Given the description of an element on the screen output the (x, y) to click on. 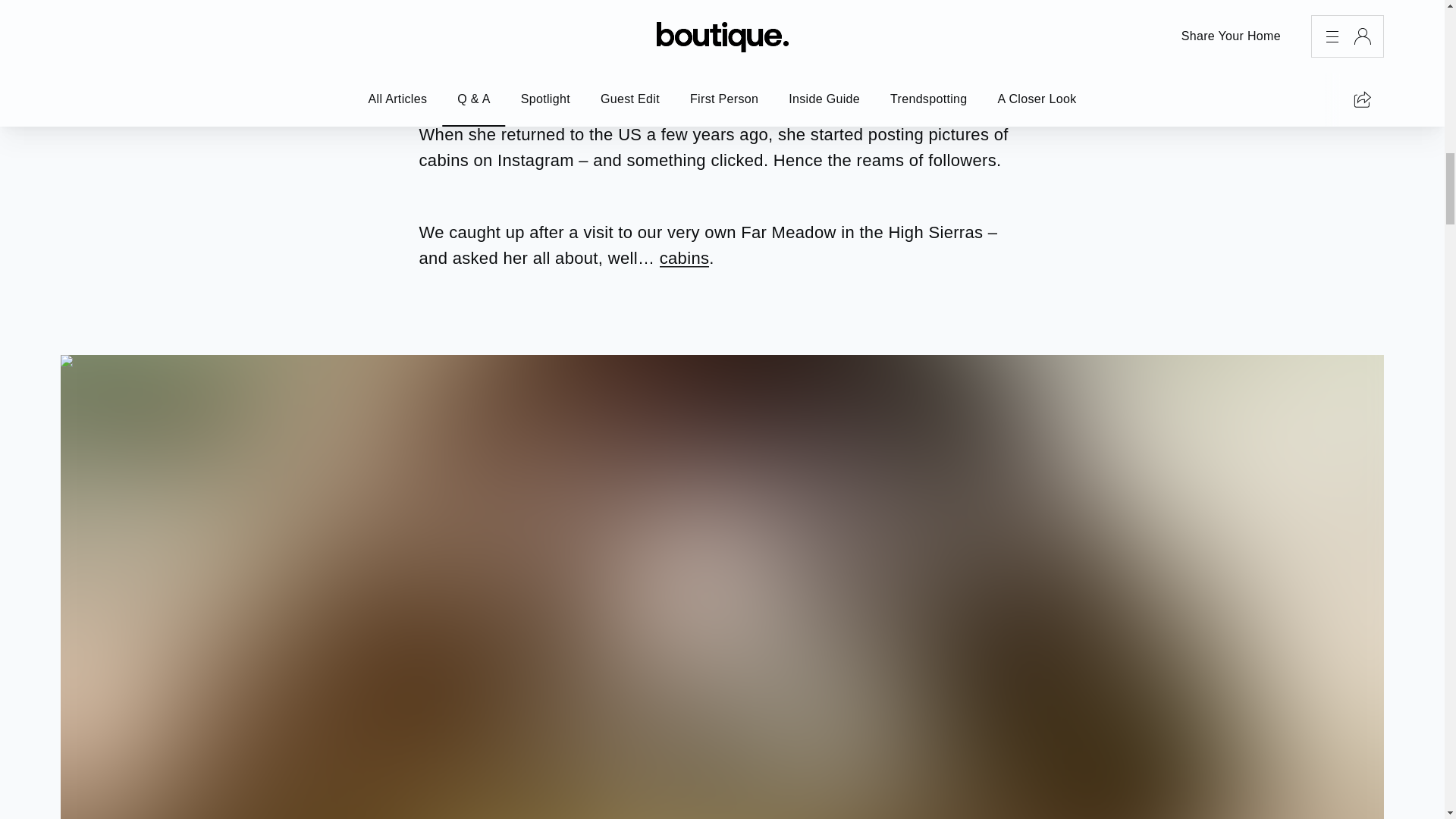
cabins (684, 257)
